Given the description of an element on the screen output the (x, y) to click on. 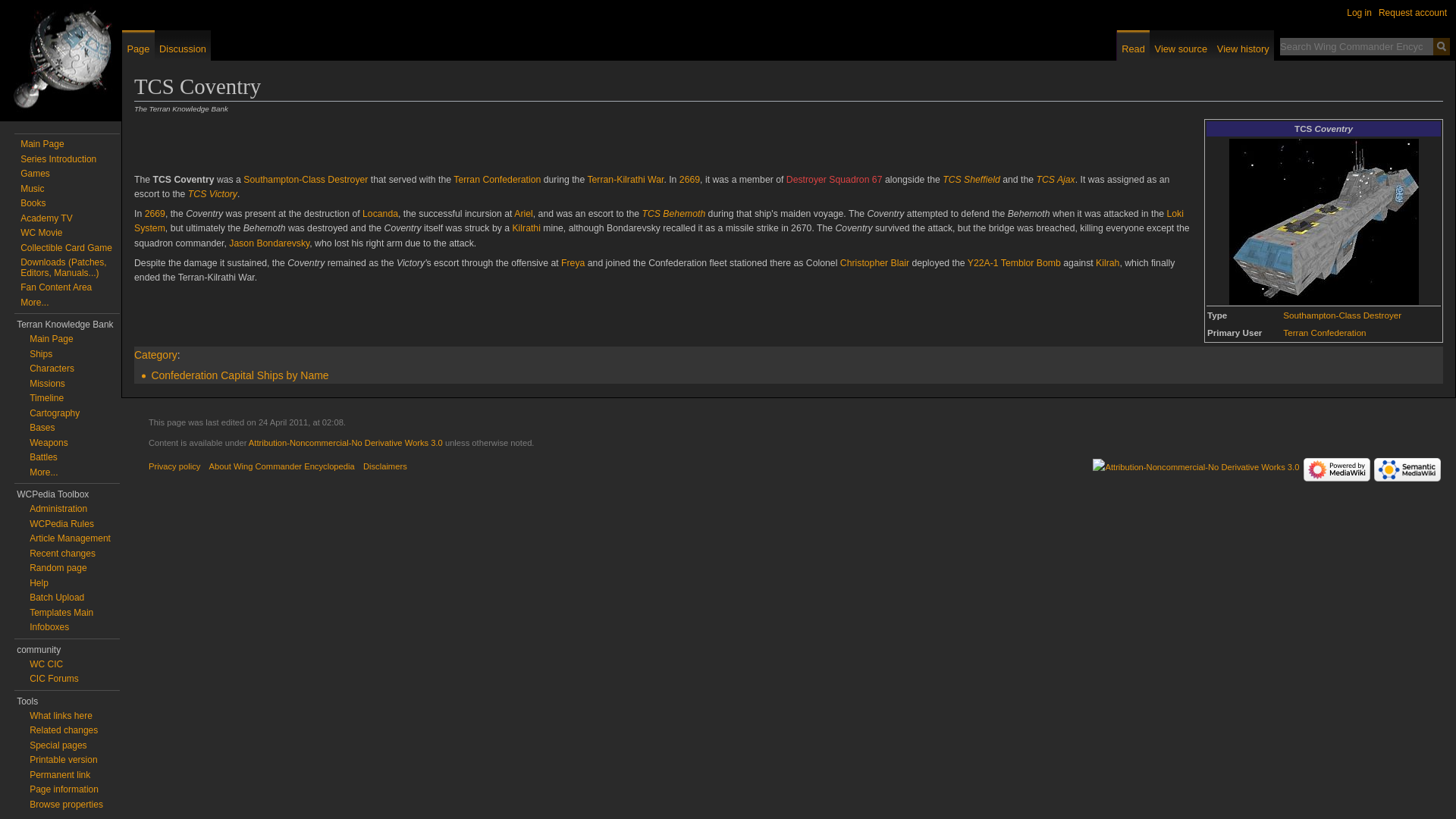
Search (1441, 45)
TCS Behemoth (673, 213)
Southampton-Class Destroyer (1341, 315)
TCS Victory (212, 194)
Terran-Kilrathi War (624, 179)
Ariel (522, 213)
Request account (1412, 12)
Freya (572, 262)
Ariel (522, 213)
Kilrah (1107, 262)
